Given the description of an element on the screen output the (x, y) to click on. 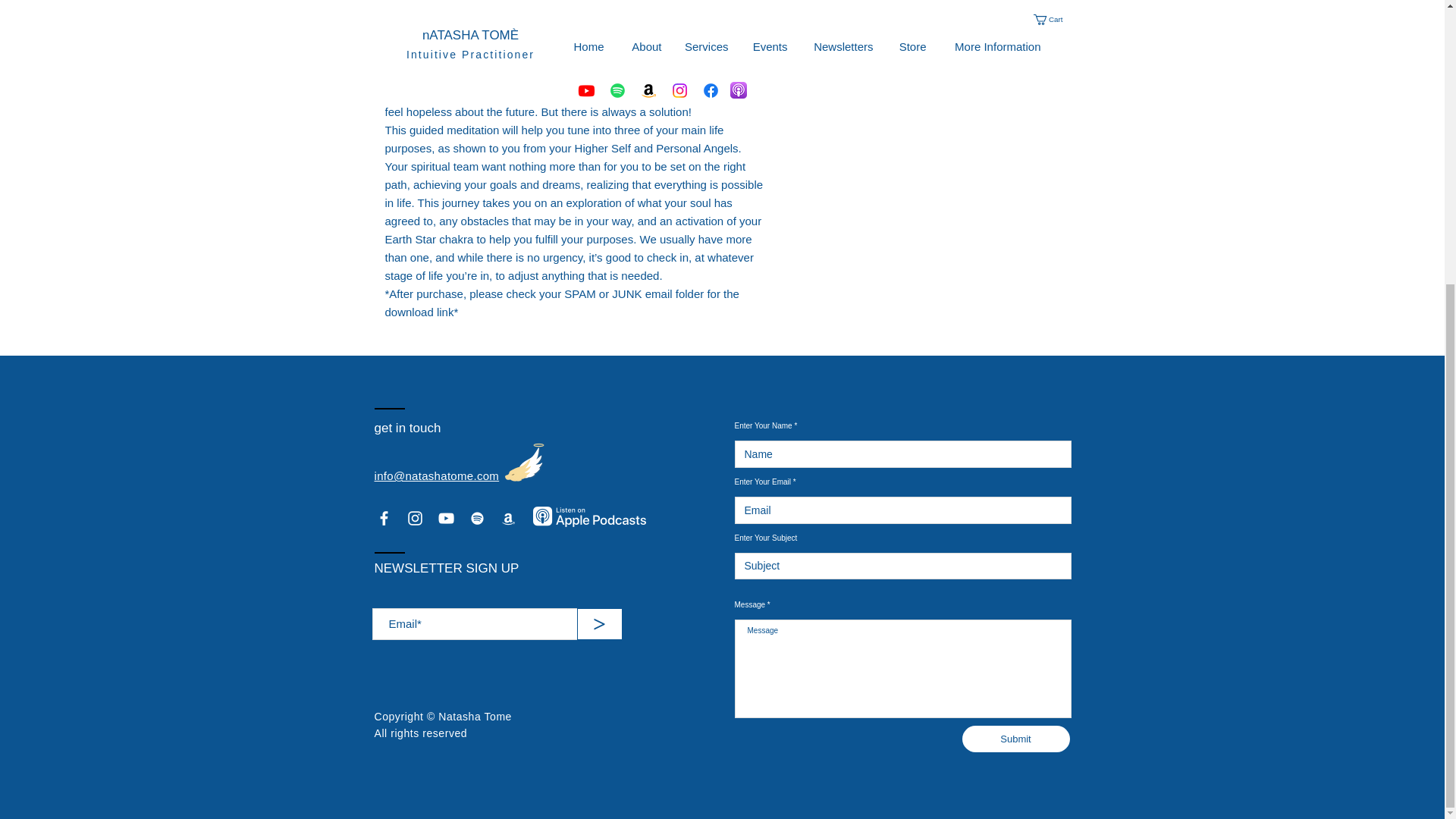
Submit (1014, 738)
